Given the description of an element on the screen output the (x, y) to click on. 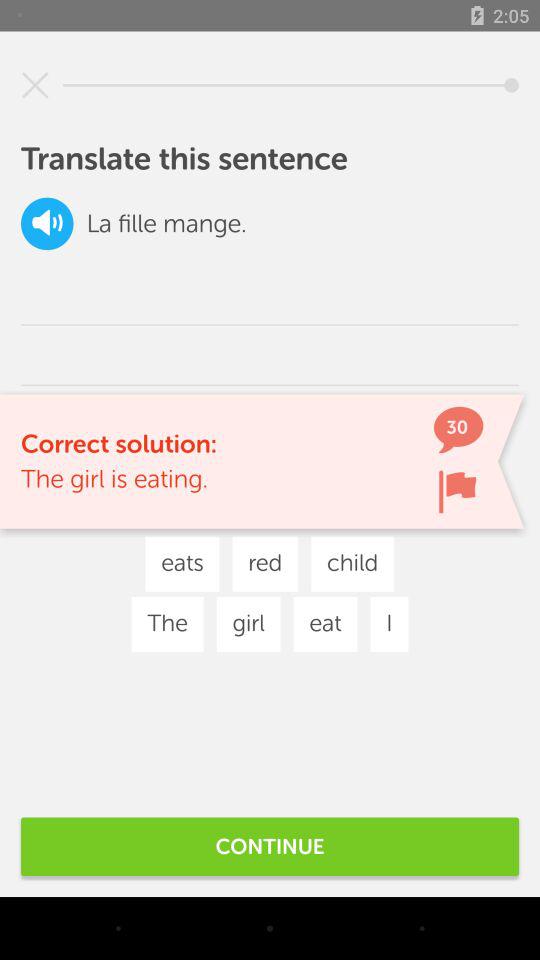
flag solution (457, 491)
